Given the description of an element on the screen output the (x, y) to click on. 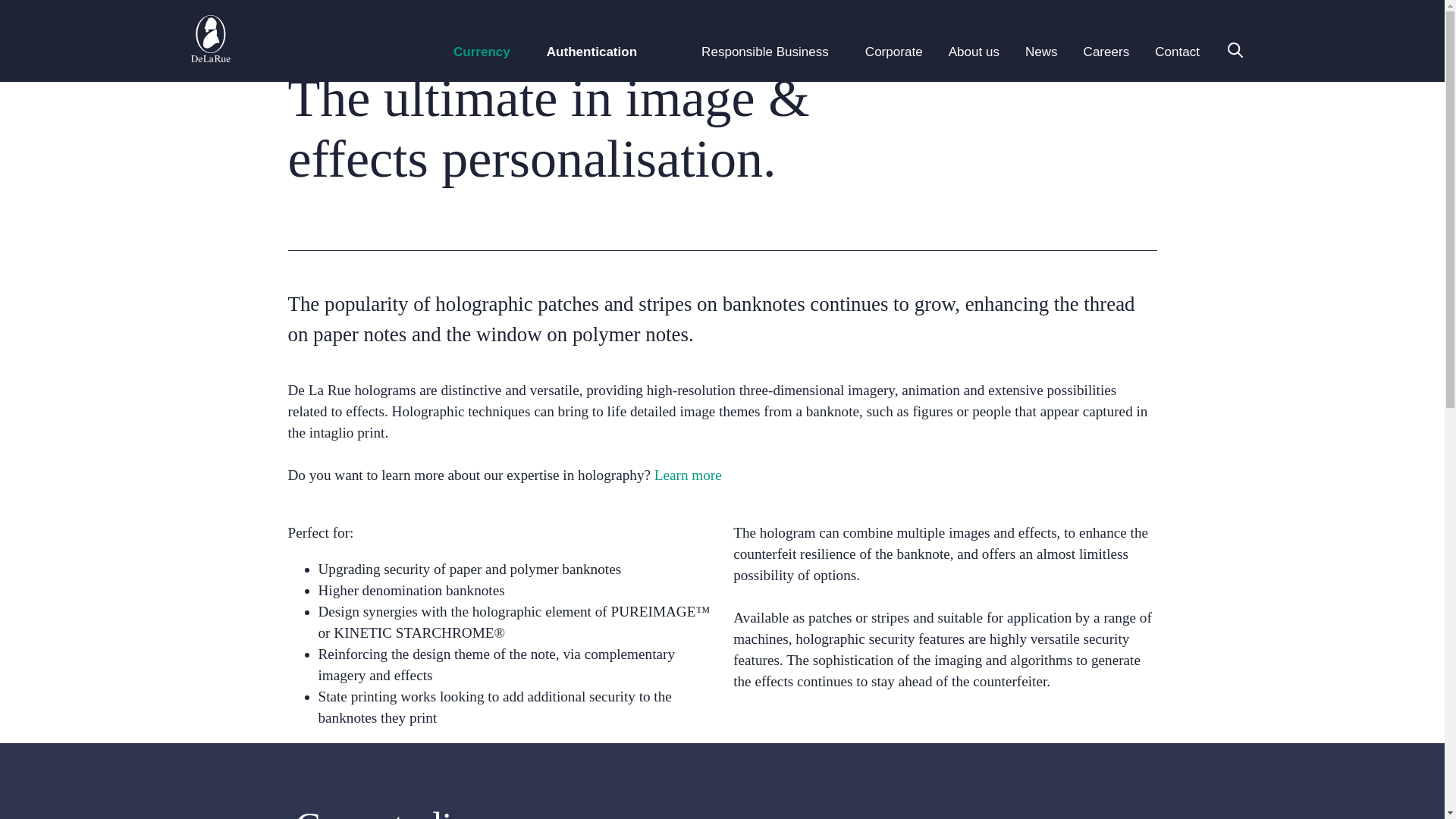
De La Rue - link to home page (210, 50)
Currency (481, 52)
Authentication (591, 52)
